Given the description of an element on the screen output the (x, y) to click on. 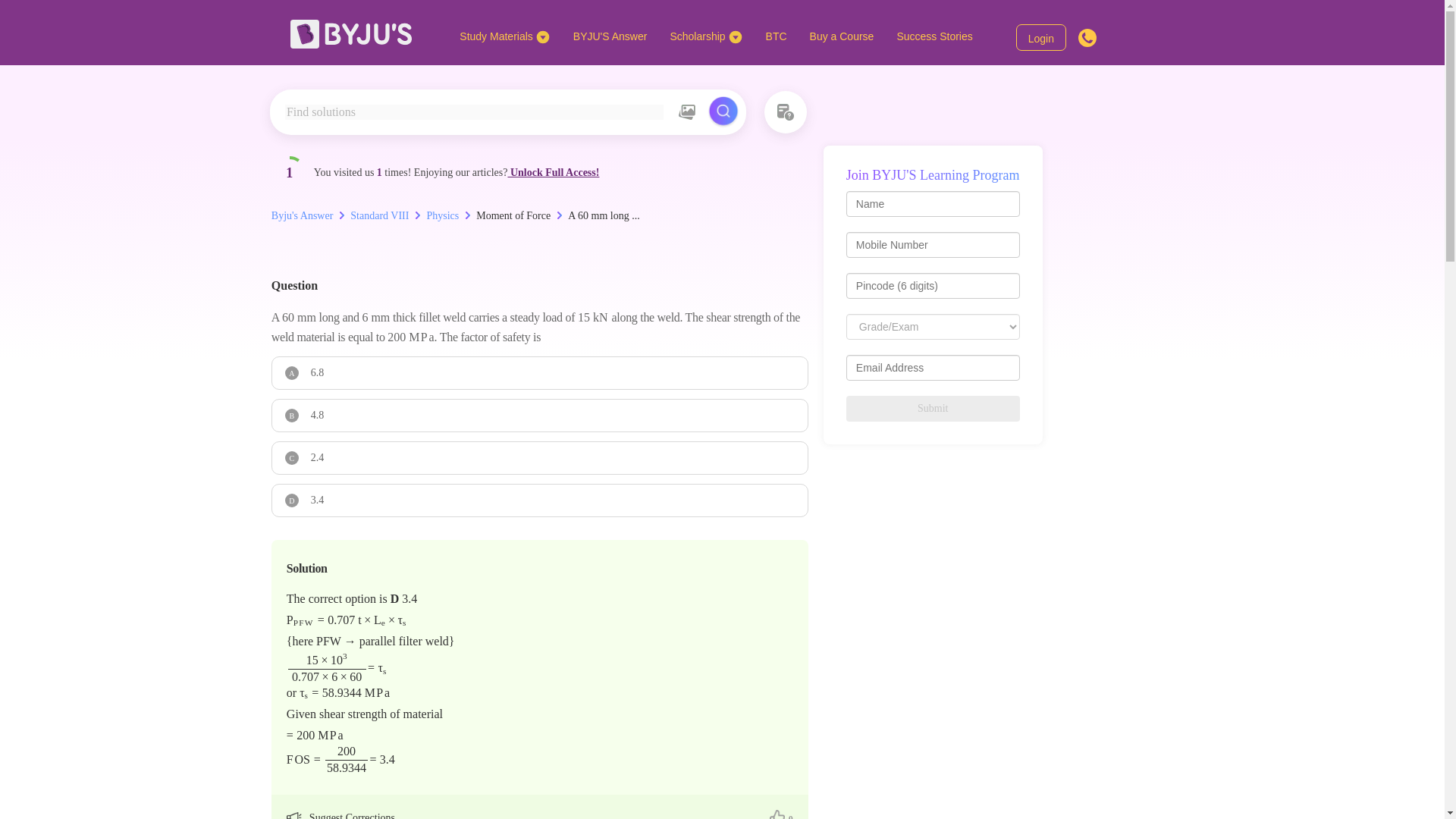
Study Materials (504, 35)
